Given the description of an element on the screen output the (x, y) to click on. 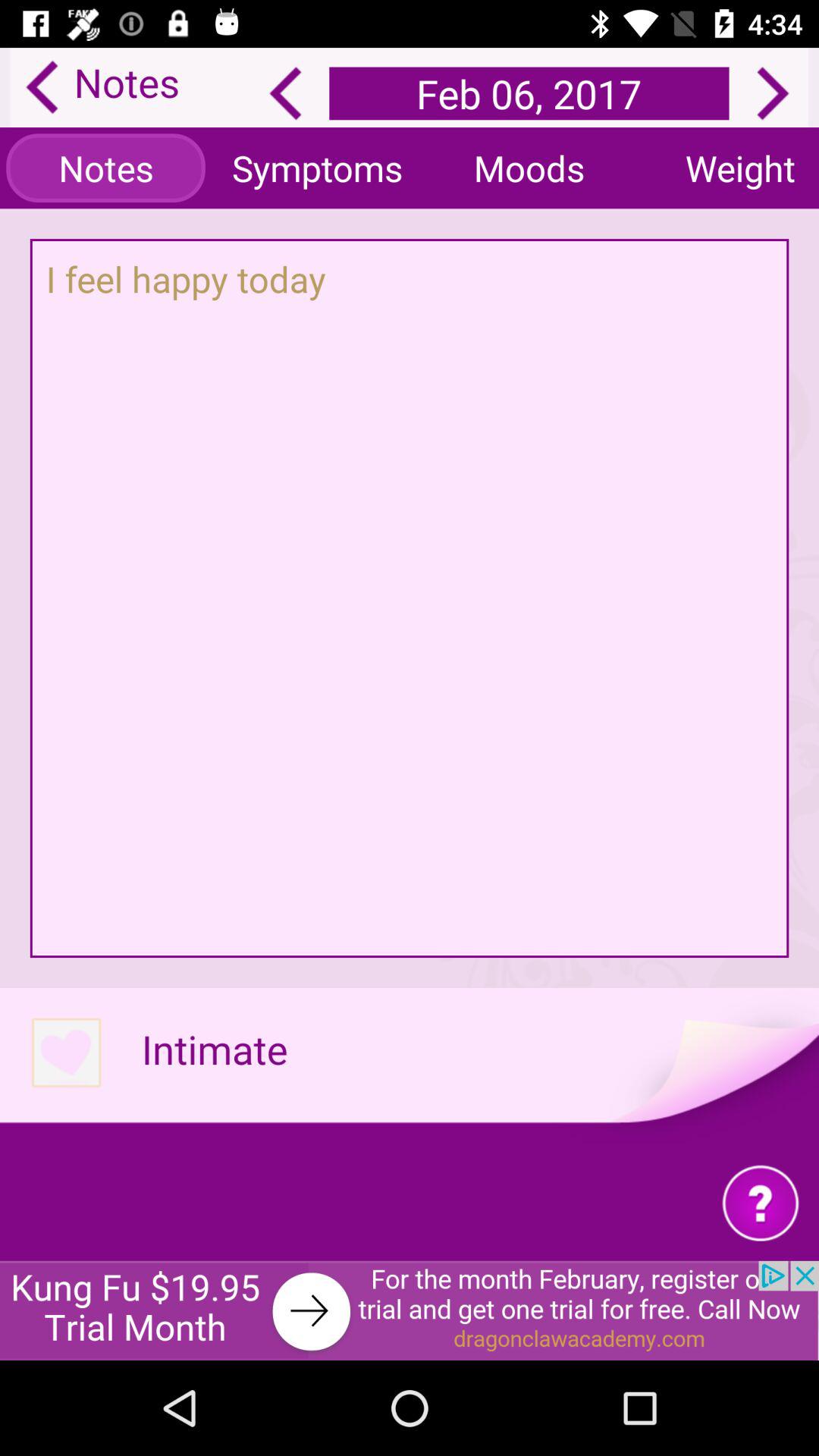
move to next day (772, 93)
